Given the description of an element on the screen output the (x, y) to click on. 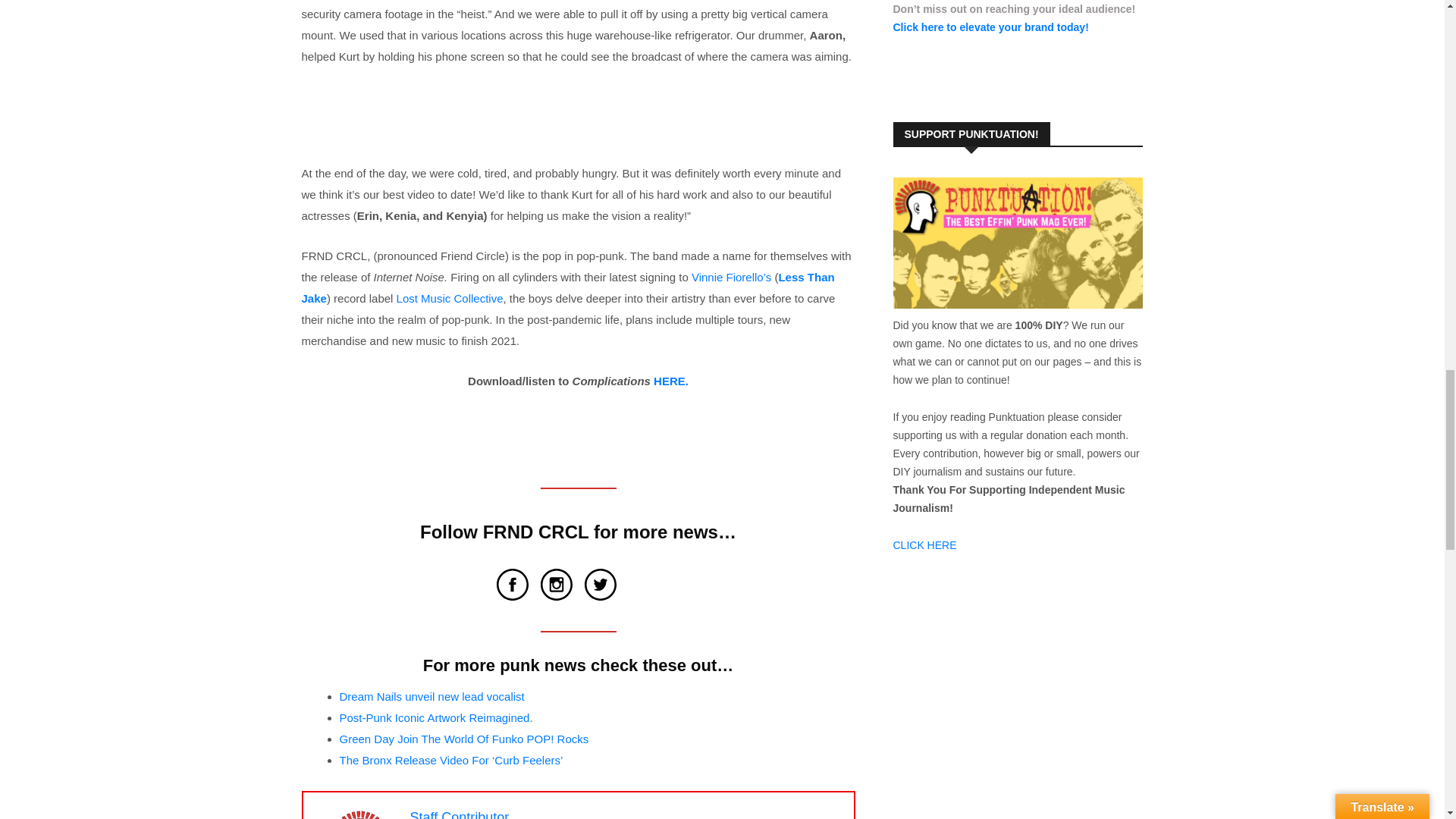
Lost Music Collective (449, 297)
Dream Nails unveil new lead vocalist (431, 696)
HERE. (670, 380)
Green Day Join The World Of Funko POP! Rocks (464, 738)
Post-Punk Iconic Artwork Reimagined. (435, 717)
Less Than Jake (567, 287)
Staff Contributor (458, 814)
